Given the description of an element on the screen output the (x, y) to click on. 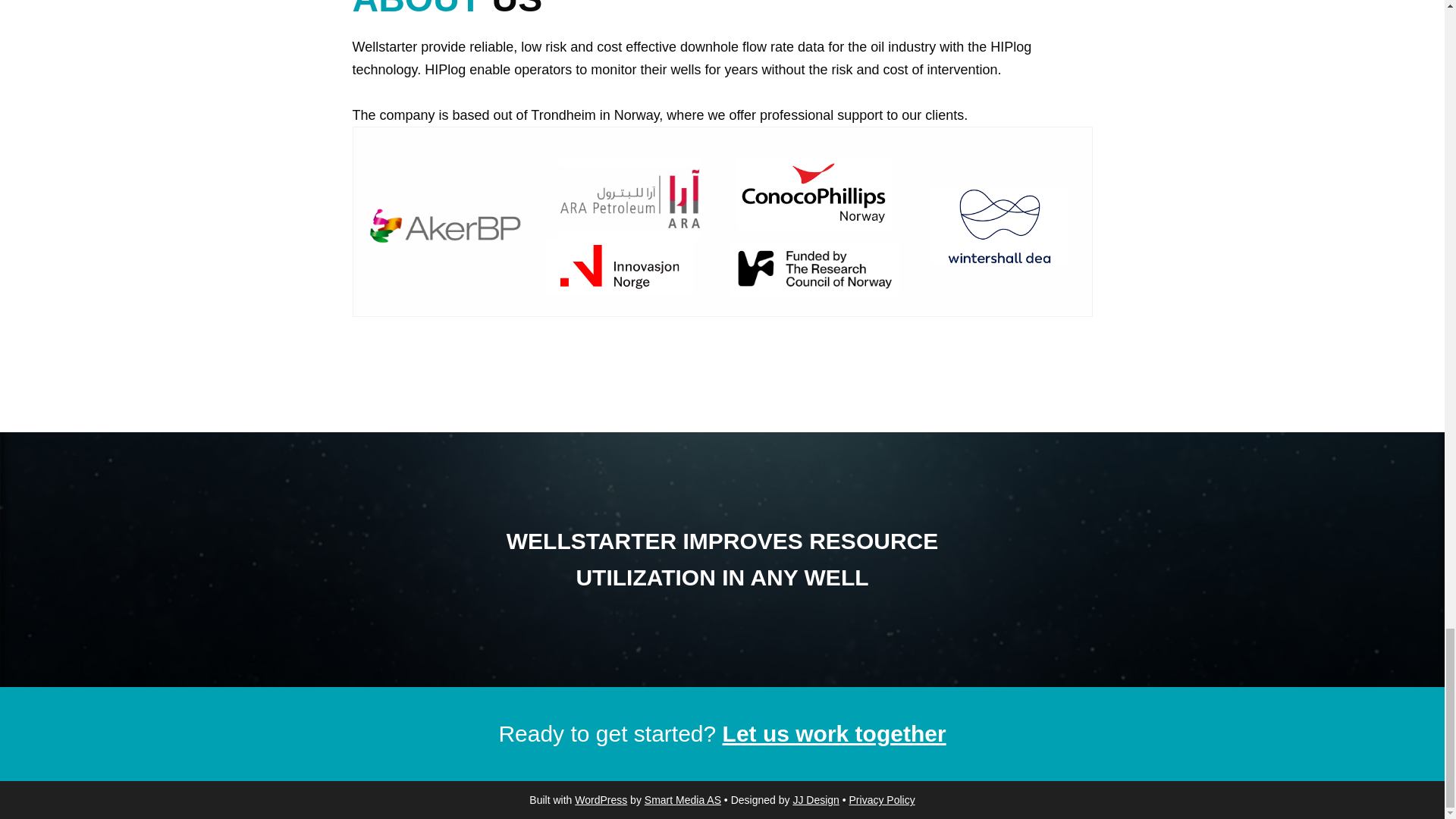
WordPress (601, 799)
Read our Privacy Policy (881, 799)
Privacy Policy (881, 799)
Smart Media AS (682, 799)
Let us work together (834, 733)
Visit the WordPress website (601, 799)
Let us work together (834, 733)
JJ Design (815, 799)
